Given the description of an element on the screen output the (x, y) to click on. 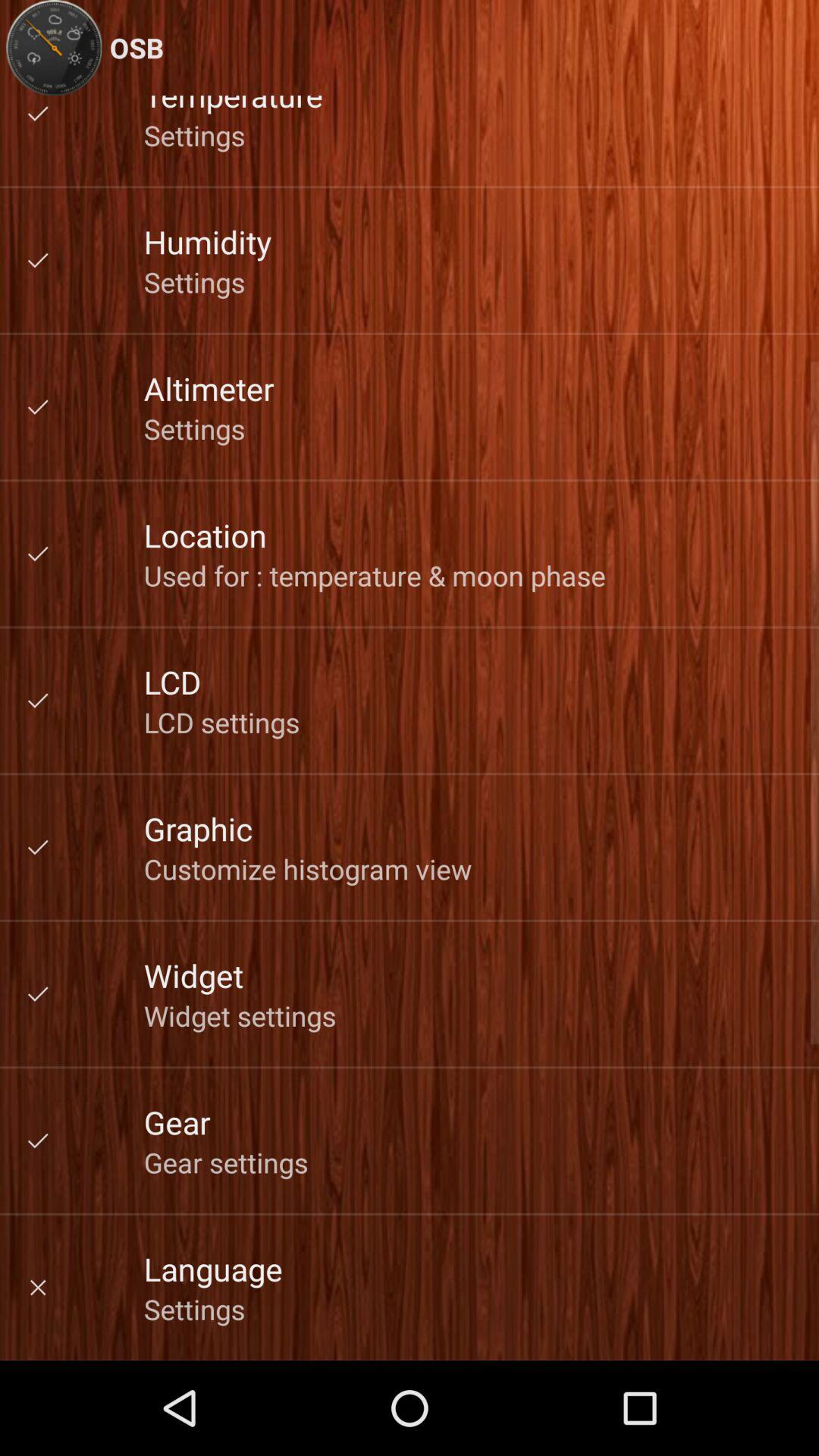
launch the item above the widget icon (307, 868)
